Given the description of an element on the screen output the (x, y) to click on. 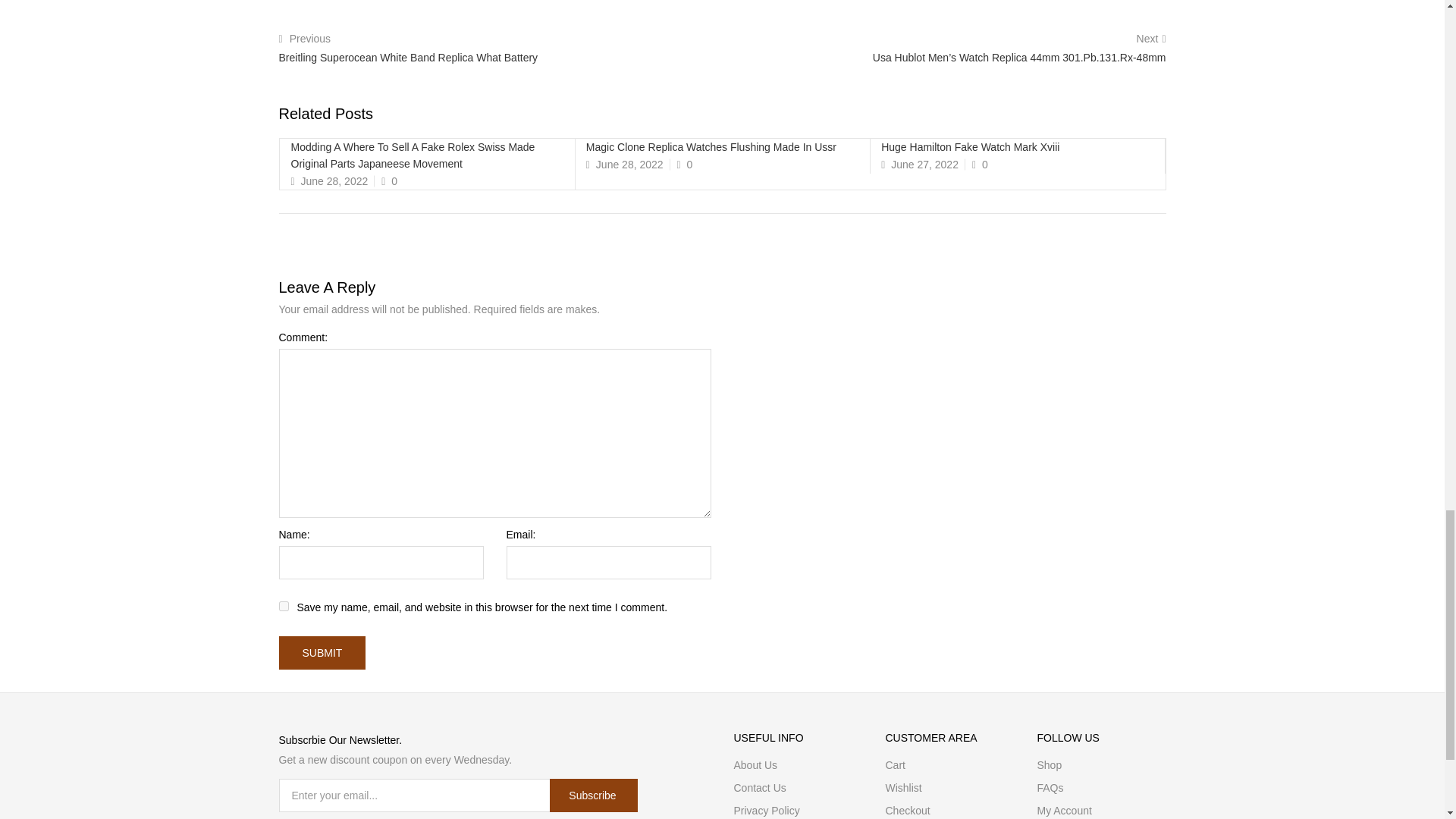
yes (283, 605)
subscribe (593, 795)
submit (322, 652)
